Given the description of an element on the screen output the (x, y) to click on. 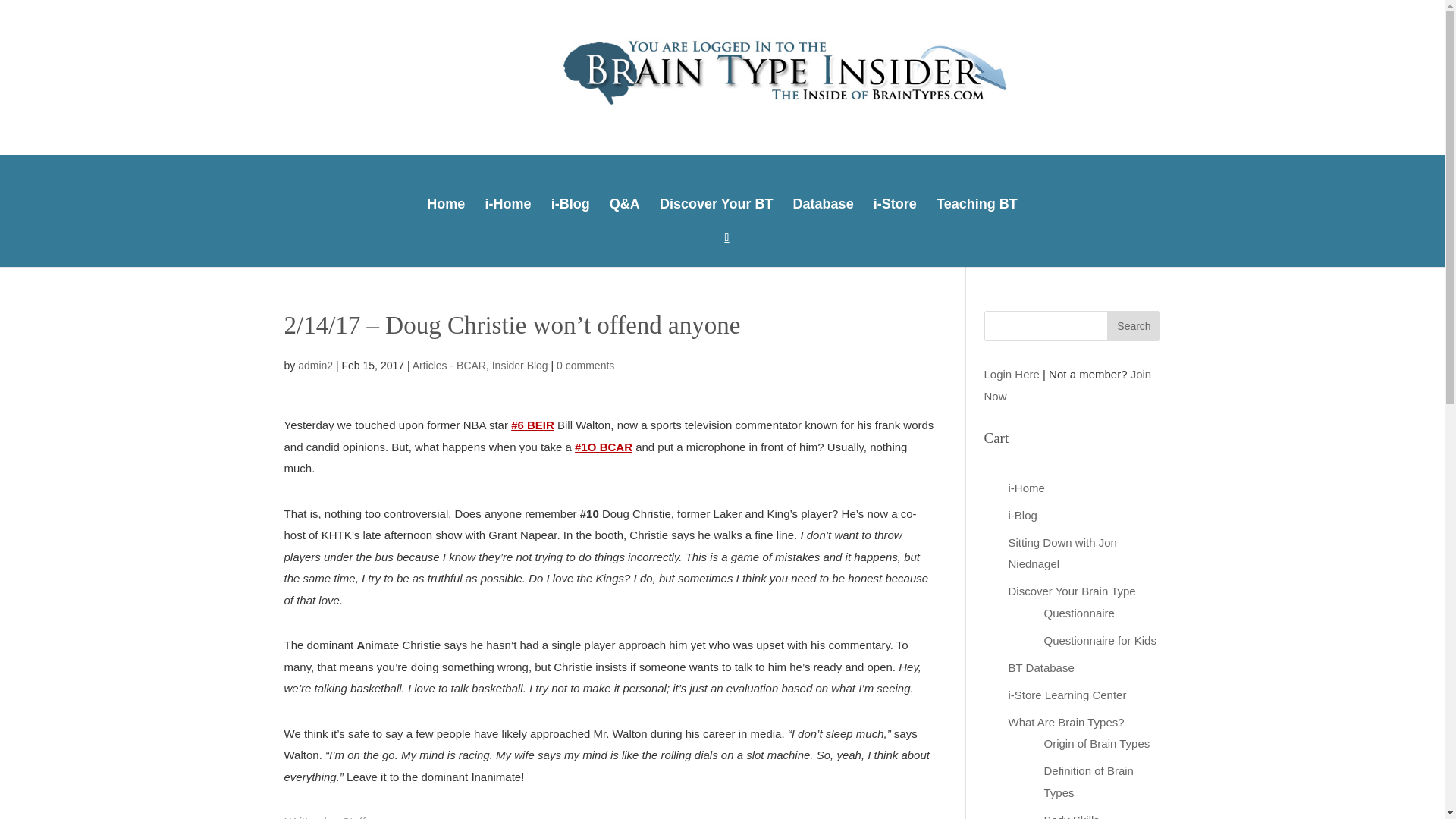
Definition of Brain Types (1087, 781)
Sitting Down with Jon Niednagel (1062, 553)
admin2 (315, 365)
Login Here (1011, 373)
Join Now (1067, 384)
Posts by admin2 (315, 365)
0 comments (585, 365)
i-Store Learning Center (1067, 694)
Origin of Brain Types (1096, 743)
What Are Brain Types? (1066, 721)
i-Blog (1022, 514)
Discover Your BT (716, 202)
Search (1133, 326)
Questionnaire (1078, 612)
Insider Blog (520, 365)
